Given the description of an element on the screen output the (x, y) to click on. 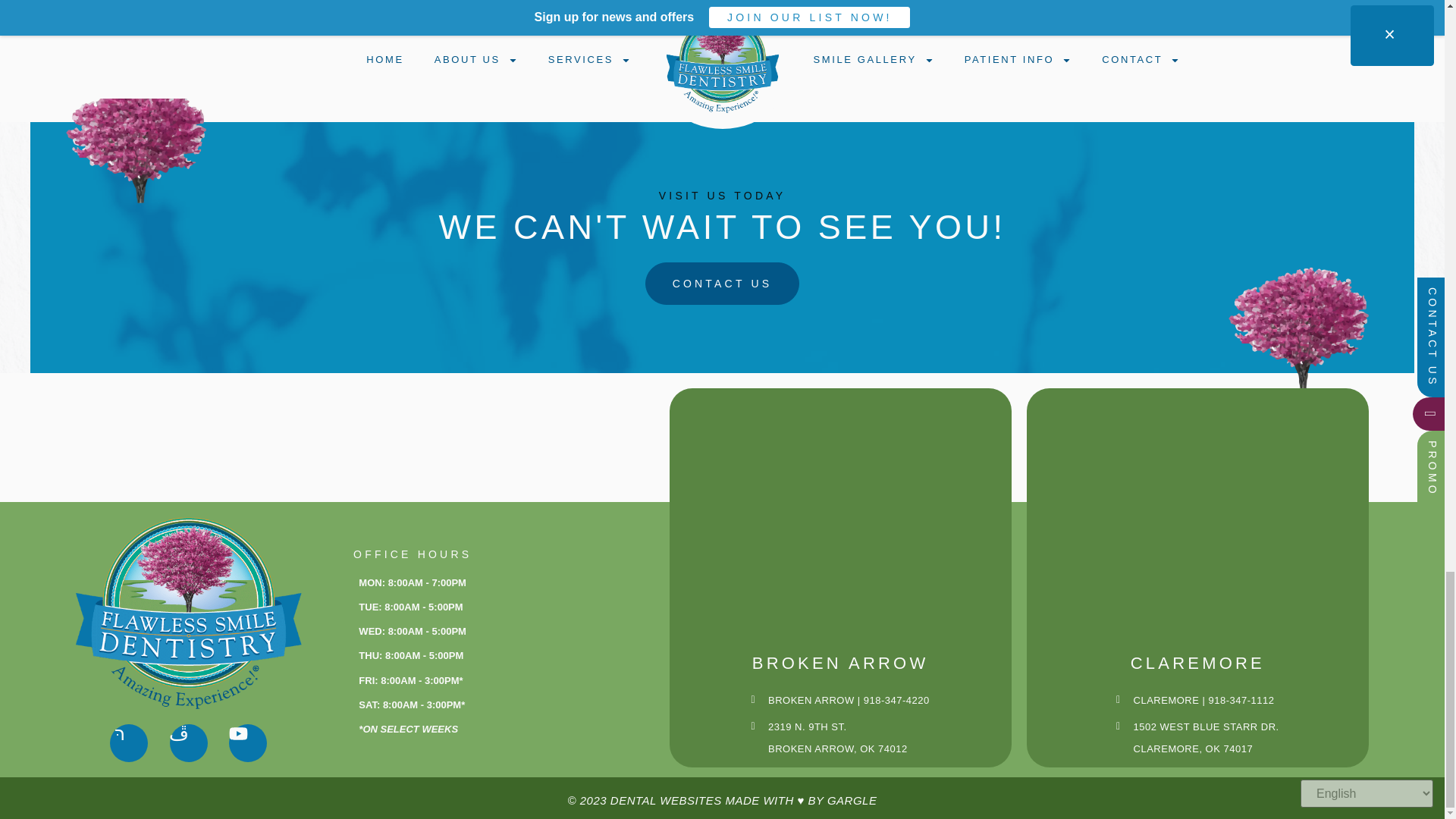
flawless smile dentistry claremore (1197, 516)
flawless smile dentistry broken arrow (840, 516)
